Given the description of an element on the screen output the (x, y) to click on. 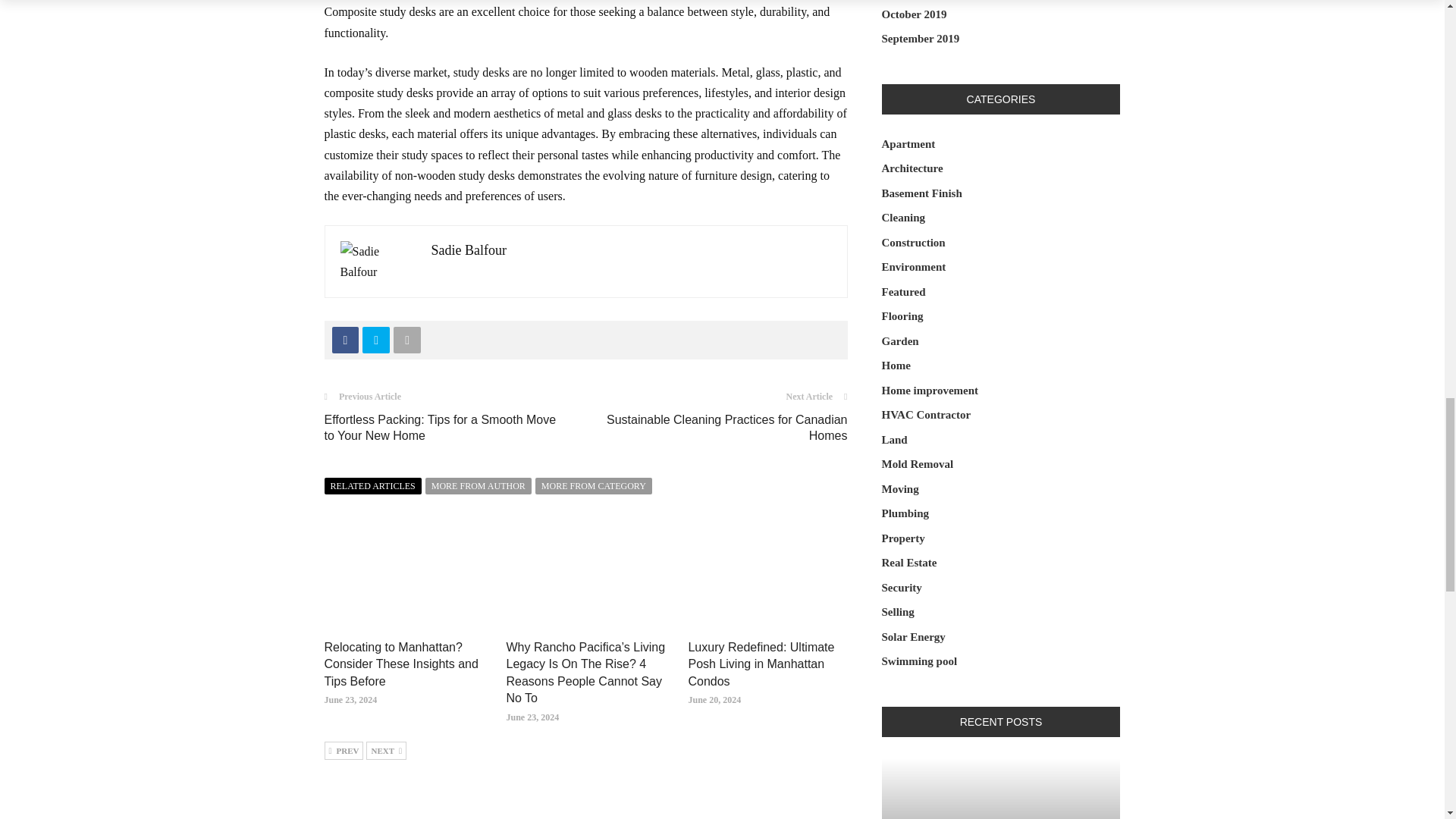
Next (386, 751)
Previous (344, 751)
